Given the description of an element on the screen output the (x, y) to click on. 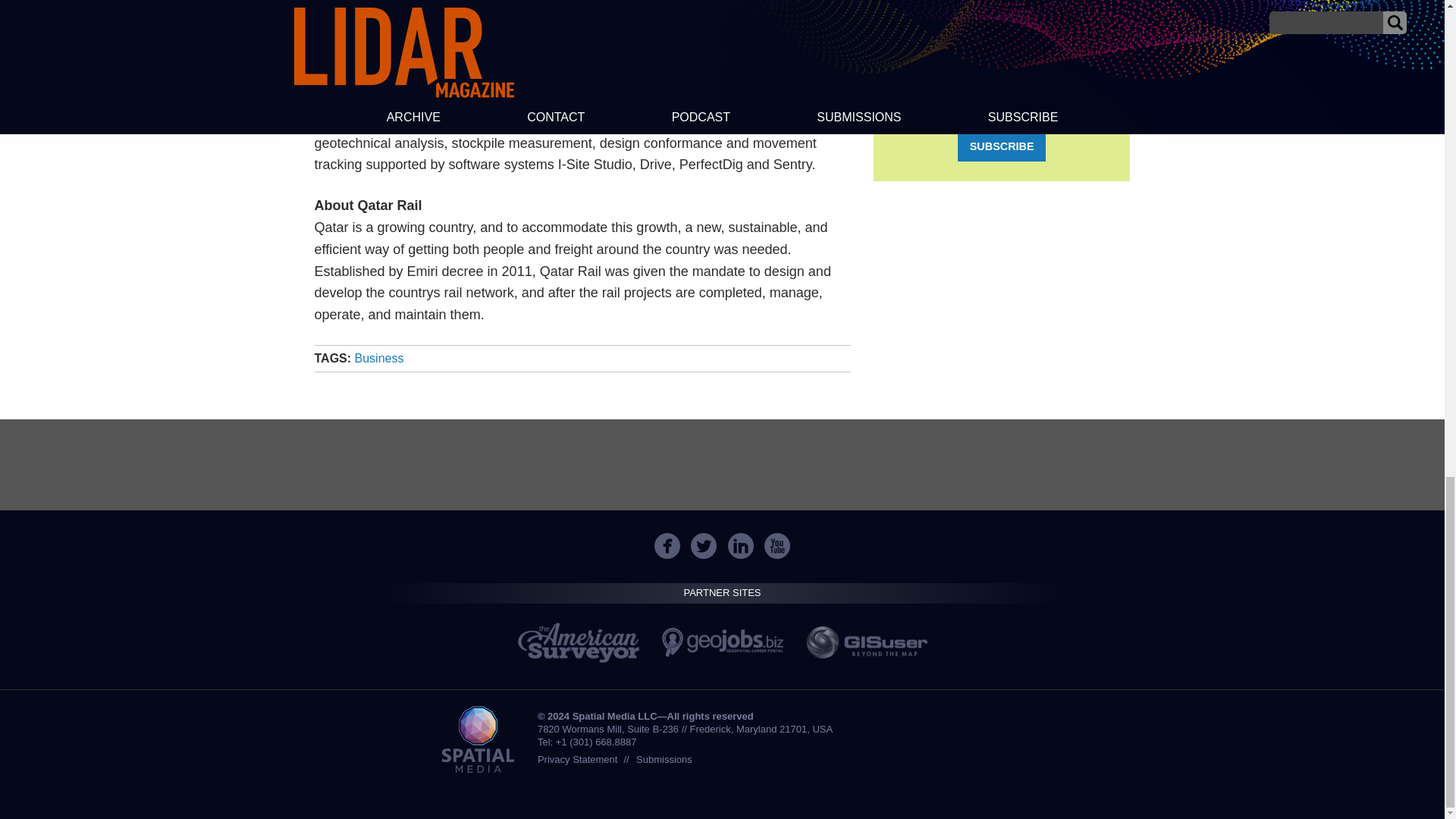
icon-sm-linkedin (741, 545)
icon-sm-youtube (777, 545)
icon-sm-fb (666, 545)
3rd party ad content (721, 464)
icon-sm-youtube (776, 545)
icon-sm-twitter (703, 545)
icon-sm-twitter (703, 545)
Privacy Statement (577, 758)
icon-sm-linkedin (740, 545)
SUBSCRIBE (1001, 145)
Business (379, 358)
icon-sm-fb (667, 545)
Submissions (664, 758)
